Given the description of an element on the screen output the (x, y) to click on. 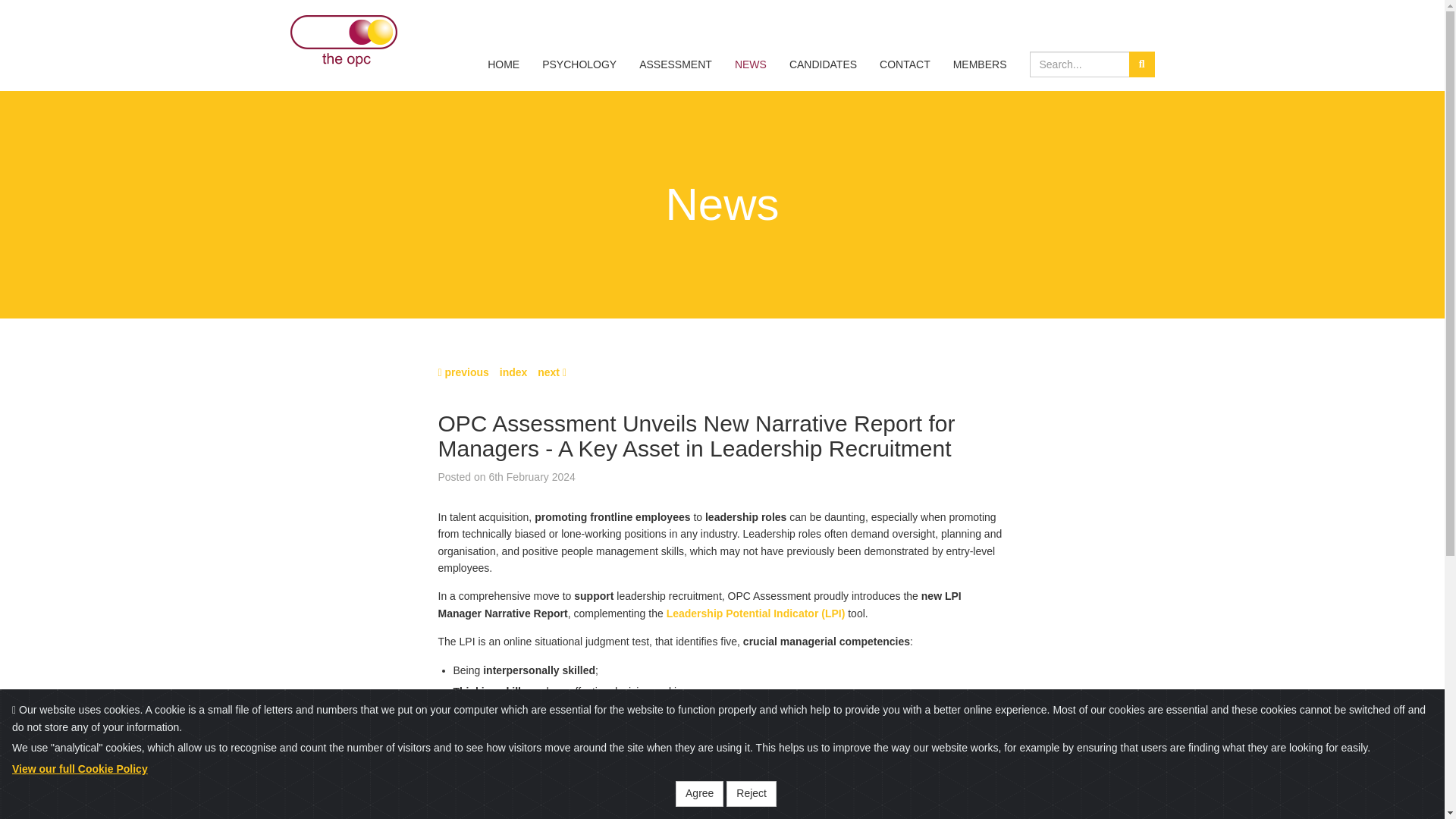
NEWS (750, 63)
PSYCHOLOGY (579, 63)
View our full Cookie Policy (79, 768)
index (513, 371)
CANDIDATES (822, 63)
MEMBERS (979, 63)
ASSESSMENT (675, 63)
Agree (699, 793)
CONTACT (904, 63)
HOME (503, 63)
next (551, 371)
previous (463, 371)
Reject (751, 793)
